Given the description of an element on the screen output the (x, y) to click on. 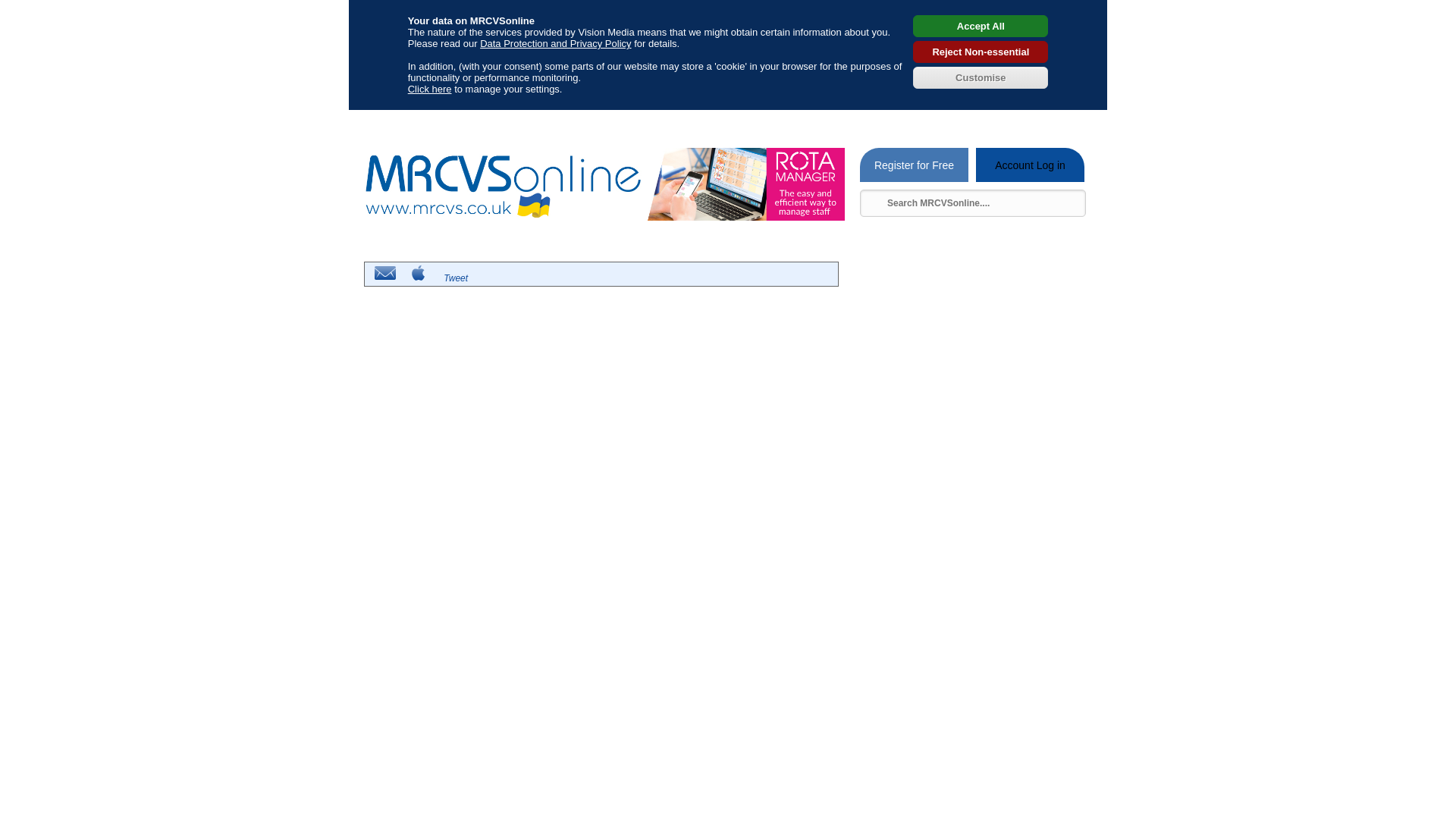
Tweet (454, 277)
Click here (429, 89)
Customise (980, 77)
Wildlife (973, 118)
Practice Management (838, 118)
Small Animal (496, 118)
Industry (686, 118)
register with MRCVSonline (914, 164)
Equine (559, 118)
Home (379, 118)
Exotics (1026, 118)
Accept All (980, 25)
Register for Free (914, 164)
login to MRCVSonline (1029, 164)
Careers (430, 118)
